Given the description of an element on the screen output the (x, y) to click on. 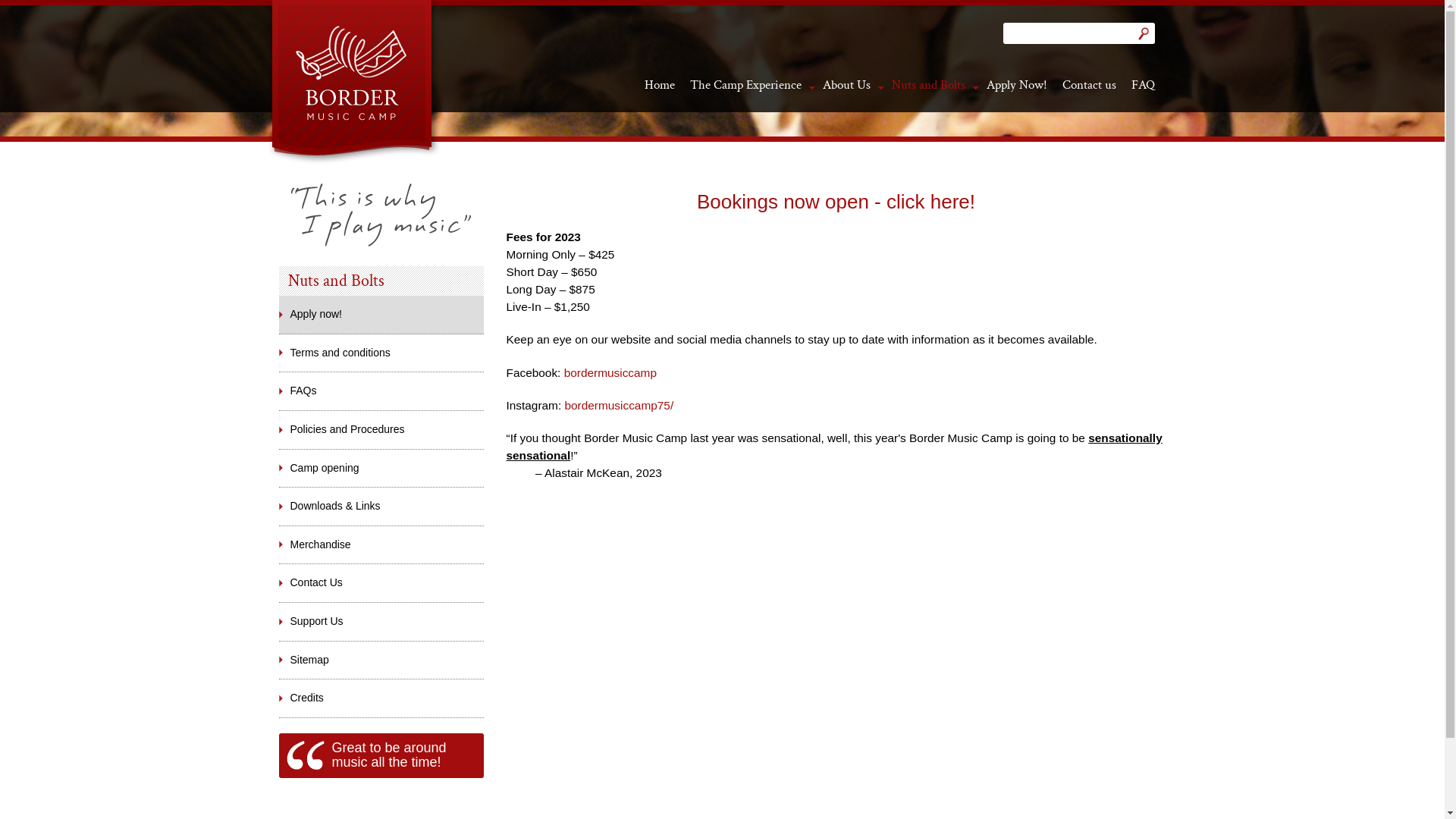
Contact Us Element type: text (381, 582)
Policies and Procedures Element type: text (381, 429)
Go Element type: text (1143, 33)
Home Element type: text (659, 84)
Merchandise Element type: text (381, 544)
Downloads & Links Element type: text (381, 506)
Apply now! Element type: text (381, 314)
The Camp Experience Element type: text (745, 84)
Sitemap Element type: text (381, 660)
Camp opening Element type: text (381, 468)
bordermusiccamp75/ Element type: text (618, 404)
FAQ Element type: text (1142, 84)
Bookings now open - click here! Element type: text (835, 201)
About Us Element type: text (845, 84)
Support Us Element type: text (381, 621)
Credits Element type: text (381, 698)
Contact us Element type: text (1088, 84)
Go Element type: hover (1143, 33)
Terms and conditions Element type: text (381, 352)
bordermusiccamp Element type: text (610, 372)
Nuts and Bolts Element type: text (928, 84)
FAQs Element type: text (381, 390)
Apply Now! Element type: text (1015, 84)
